Given the description of an element on the screen output the (x, y) to click on. 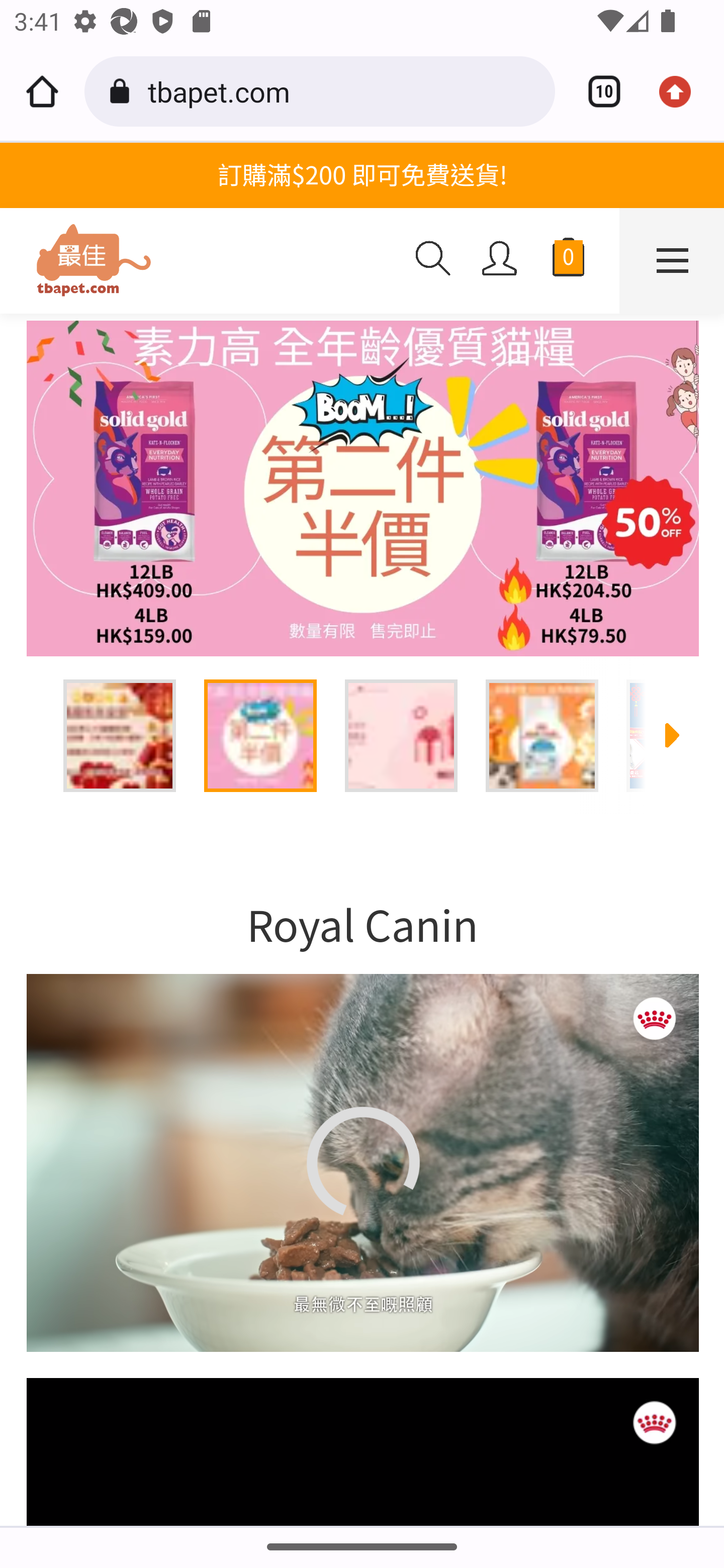
Home (42, 91)
Connection is secure (122, 91)
Switch or close tabs (597, 91)
Update available. More options (681, 91)
tbapet.com (343, 90)
450x (200, 260)
sign_in (499, 258)
0 (567, 260)
•  sg (362, 488)
